Given the description of an element on the screen output the (x, y) to click on. 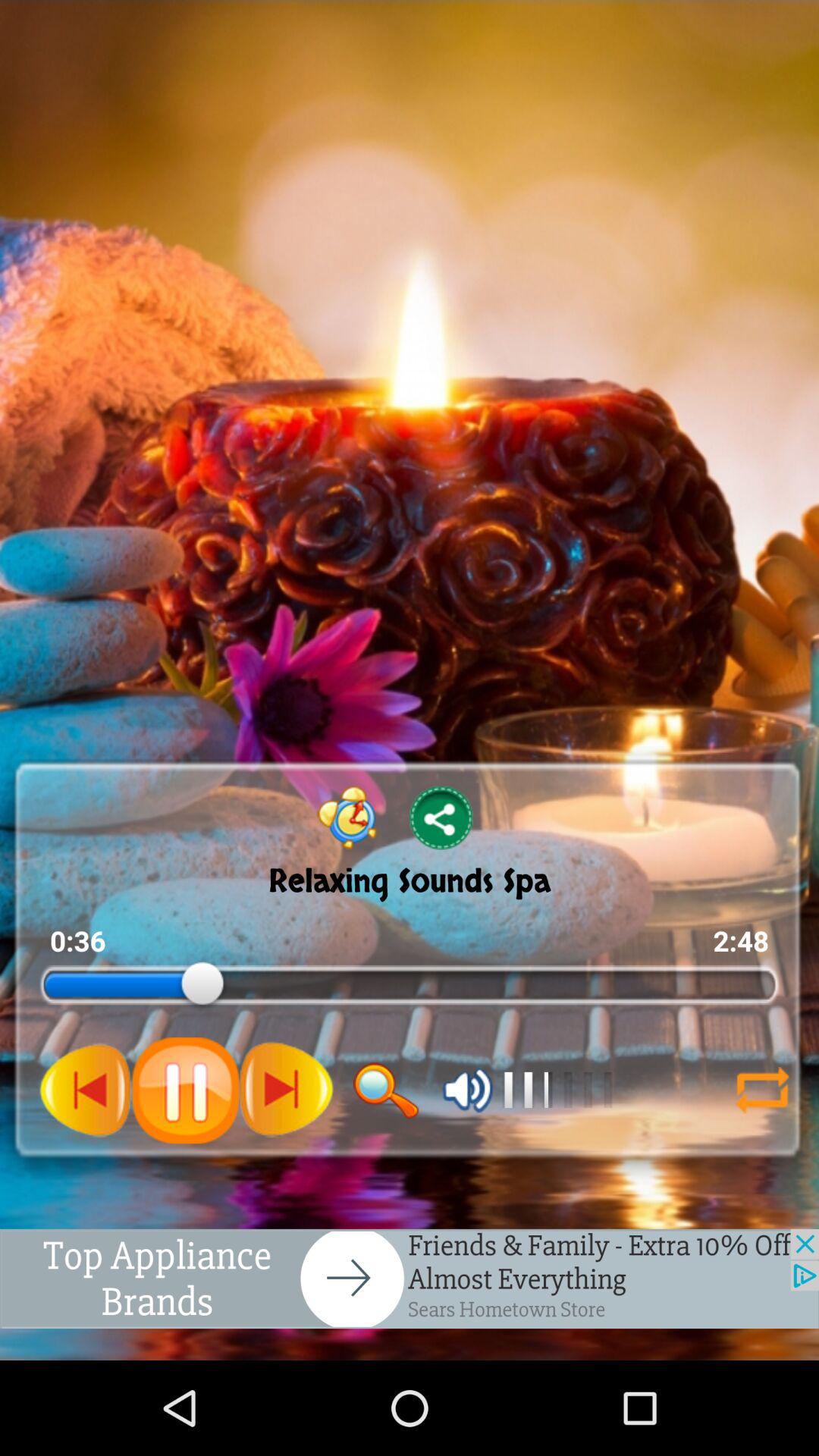
click to volume (467, 1089)
